Given the description of an element on the screen output the (x, y) to click on. 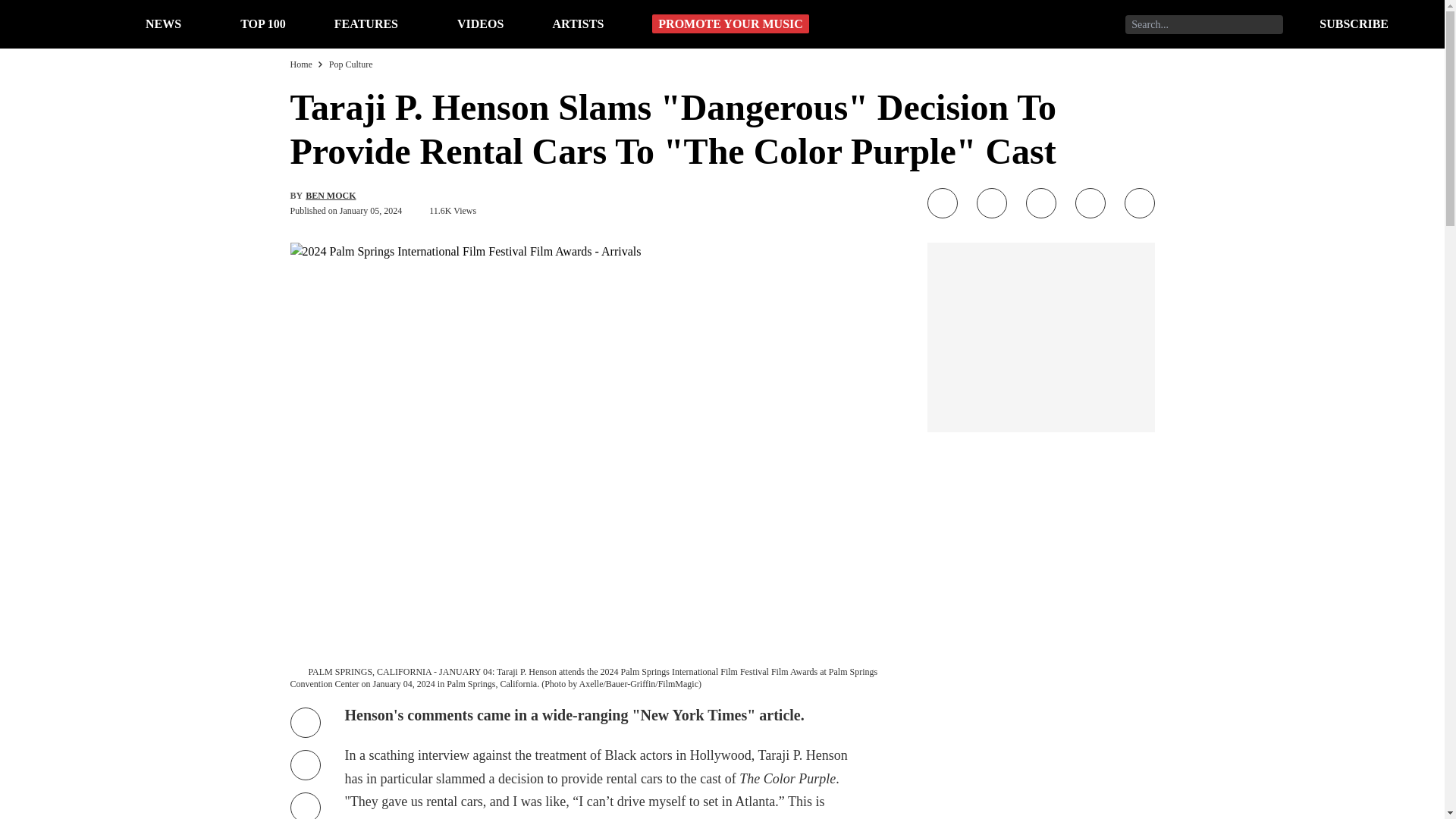
BEN MOCK (330, 195)
TOP 100 (262, 23)
NEWS (162, 23)
Pop Culture (350, 63)
FEATURES (365, 23)
VIDEOS (480, 23)
January 05, 2024 (370, 210)
Home (300, 63)
